Given the description of an element on the screen output the (x, y) to click on. 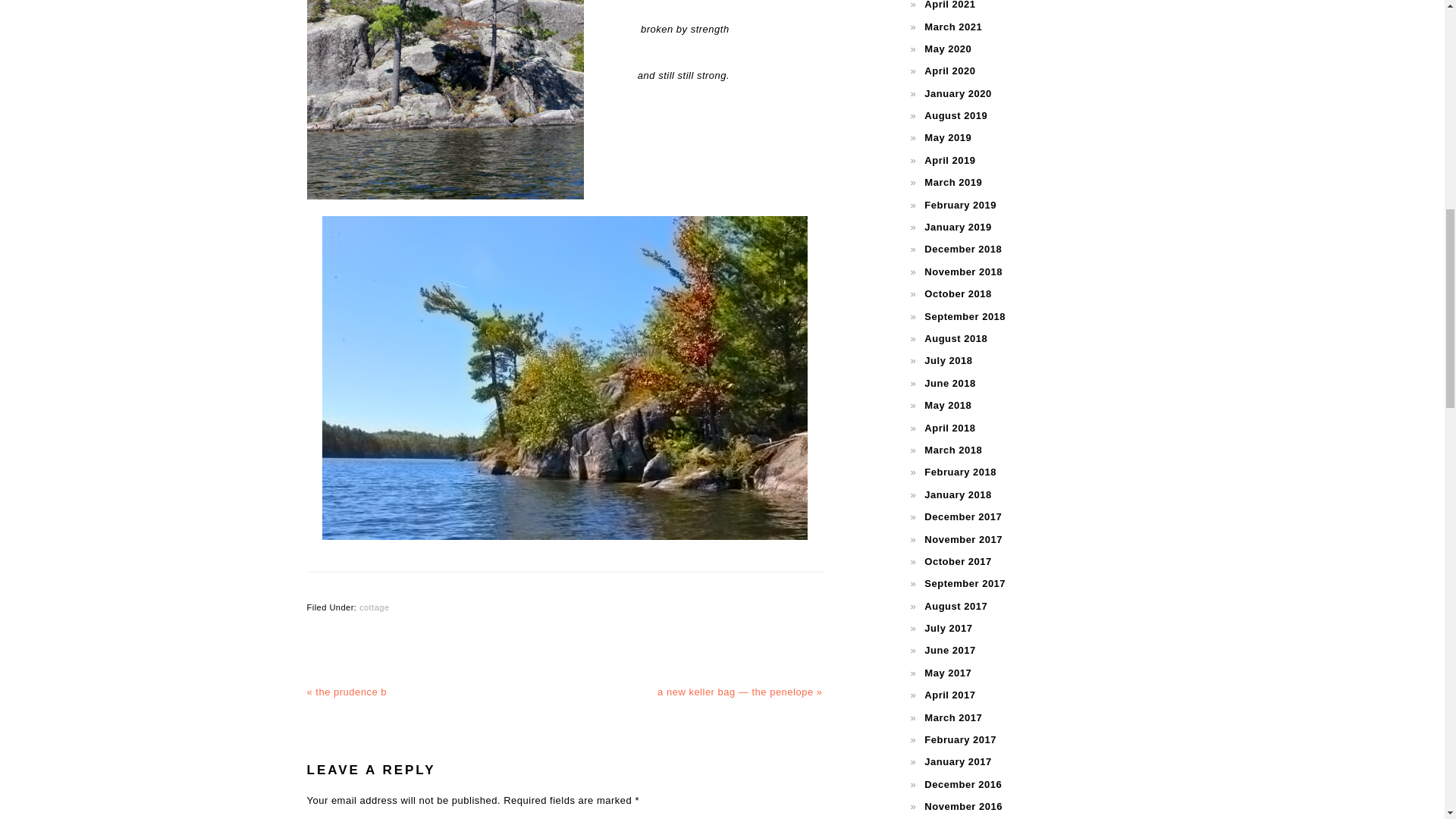
January 2020 (957, 93)
August 2019 (955, 115)
January 2019 (957, 226)
April 2020 (949, 70)
February 2019 (959, 204)
October 2018 (957, 293)
November 2018 (963, 271)
May 2020 (947, 48)
April 2019 (949, 160)
May 2019 (947, 137)
